Given the description of an element on the screen output the (x, y) to click on. 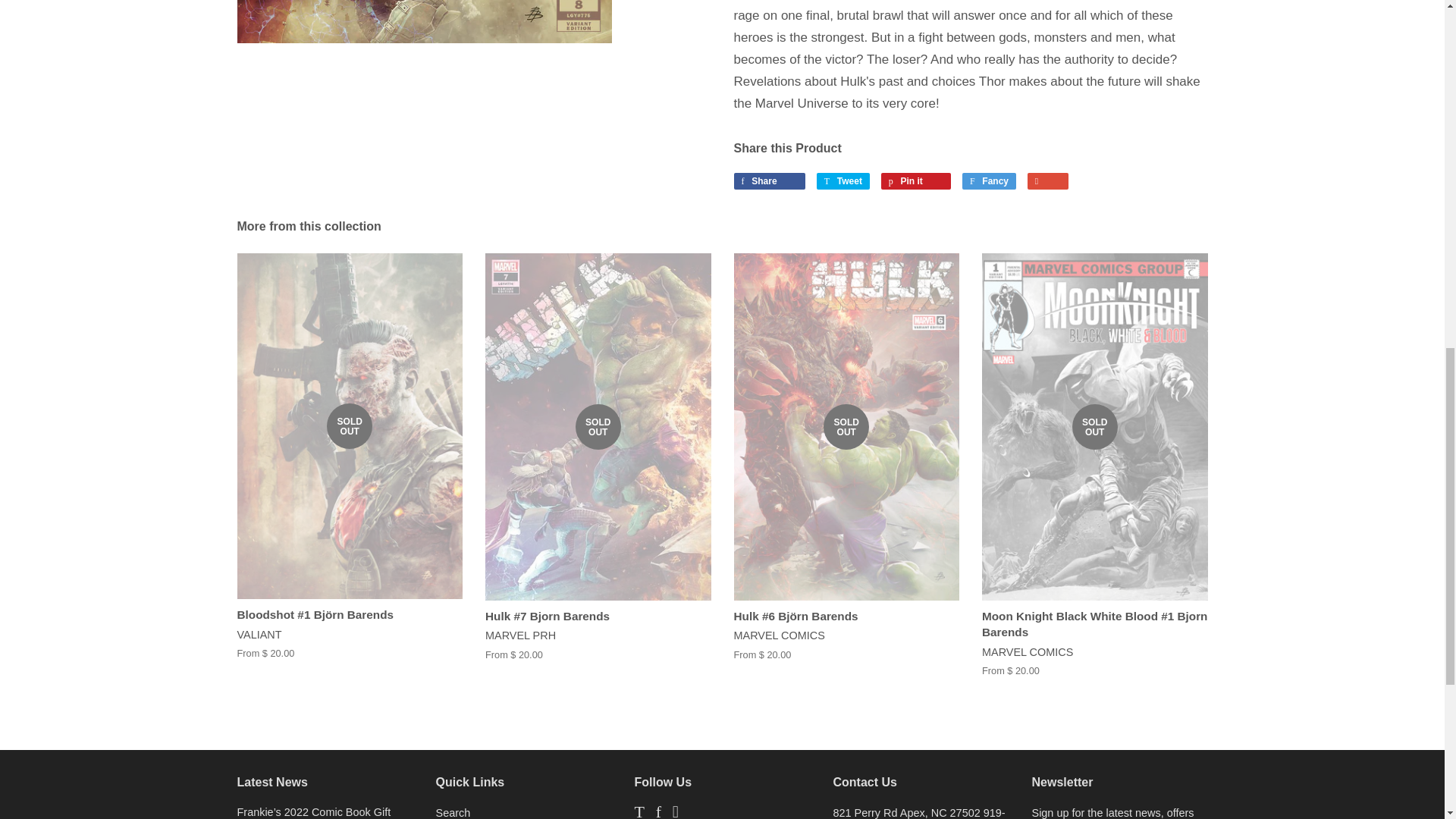
Share on Facebook (769, 180)
Pin on Pinterest (989, 180)
Tweet on Twitter (769, 180)
Add to Fancy (916, 180)
